Given the description of an element on the screen output the (x, y) to click on. 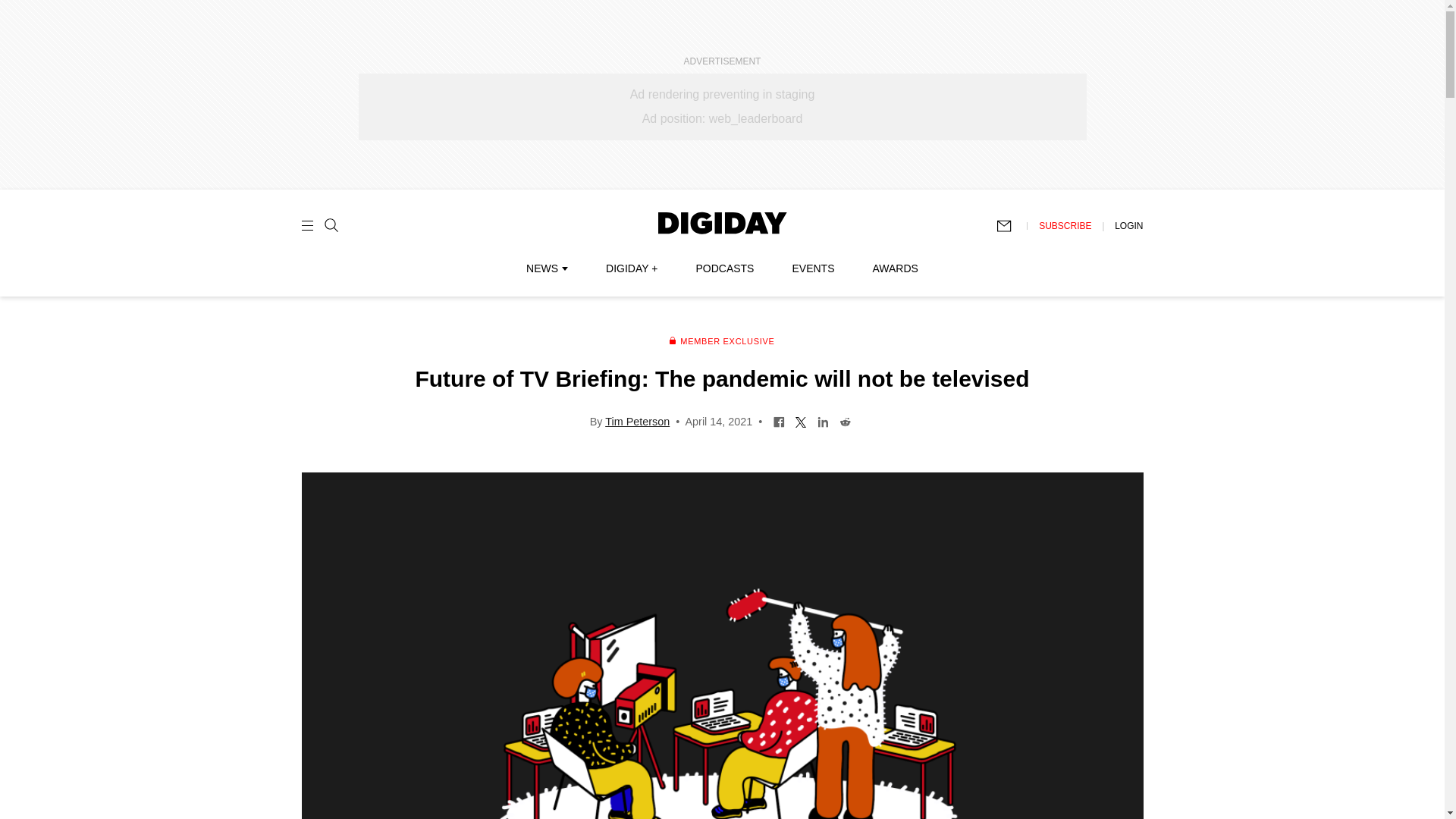
EVENTS (813, 267)
Share on Facebook (779, 420)
Share on Reddit (844, 420)
Share on LinkedIn (822, 420)
PODCASTS (725, 267)
NEWS (546, 267)
SUBSCRIBE (1064, 225)
Subscribe (1010, 225)
AWARDS (894, 267)
LOGIN (1128, 225)
Share on Twitter (801, 420)
